Given the description of an element on the screen output the (x, y) to click on. 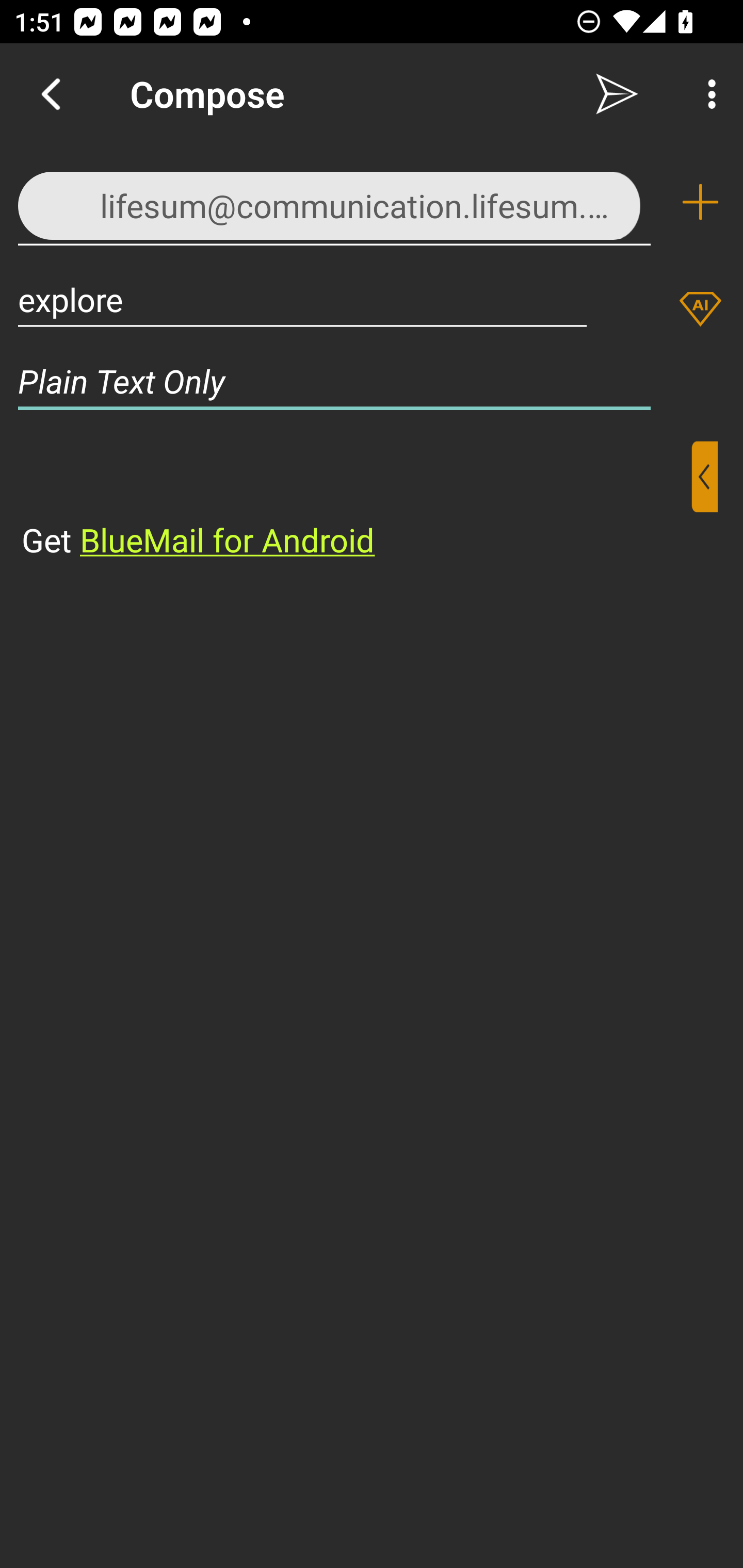
Navigate up (50, 93)
Send (616, 93)
More Options (706, 93)
<lifesum@communication.lifesum.com>,  (334, 201)
Add recipient (To) (699, 201)
explore (302, 299)
Plain Text Only (371, 380)


⁣Get BlueMail for Android ​ (355, 501)
